Given the description of an element on the screen output the (x, y) to click on. 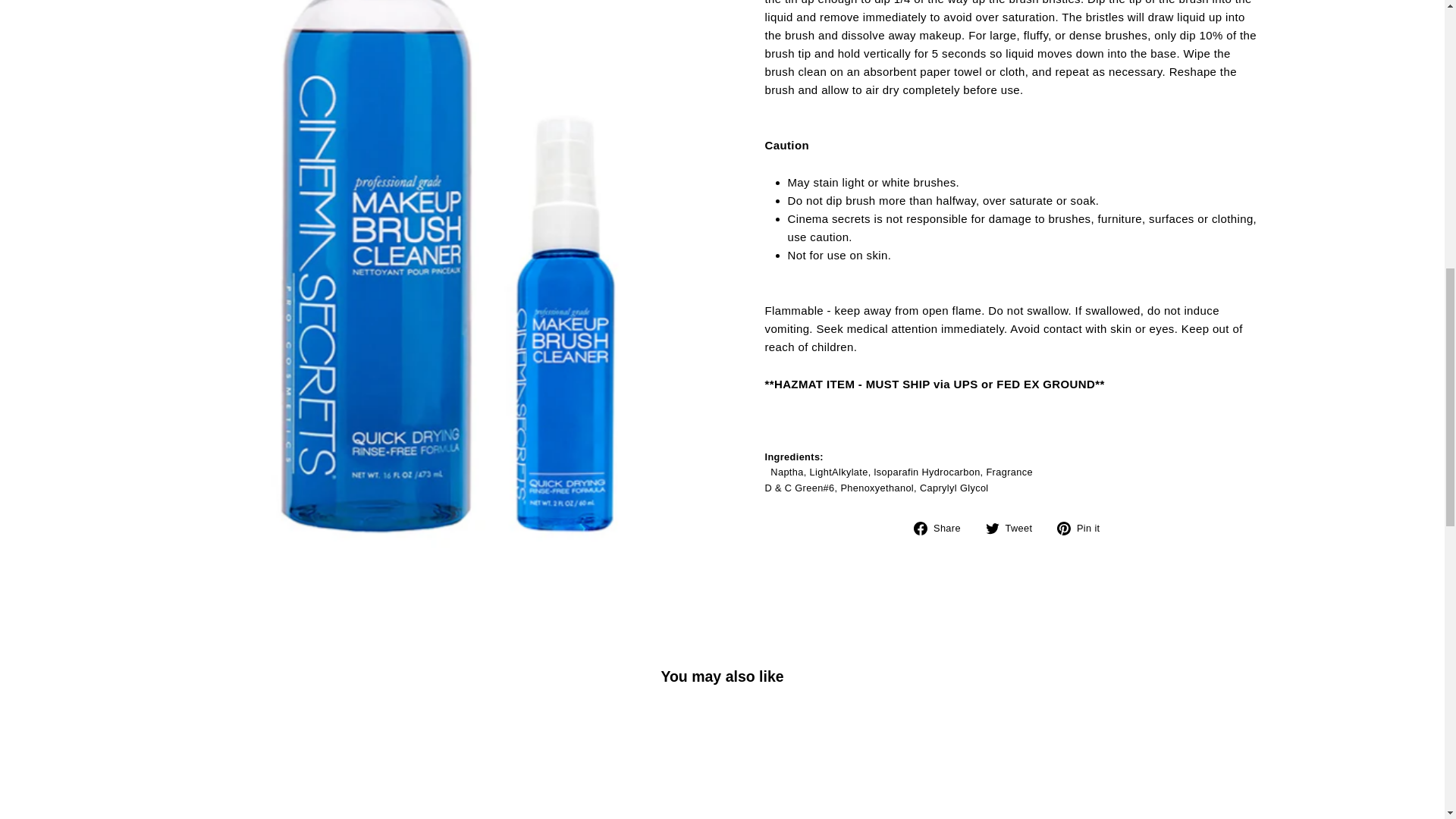
Tweet on Twitter (1014, 527)
twitter (991, 528)
Pin on Pinterest (1083, 527)
Share on Facebook (942, 527)
